Given the description of an element on the screen output the (x, y) to click on. 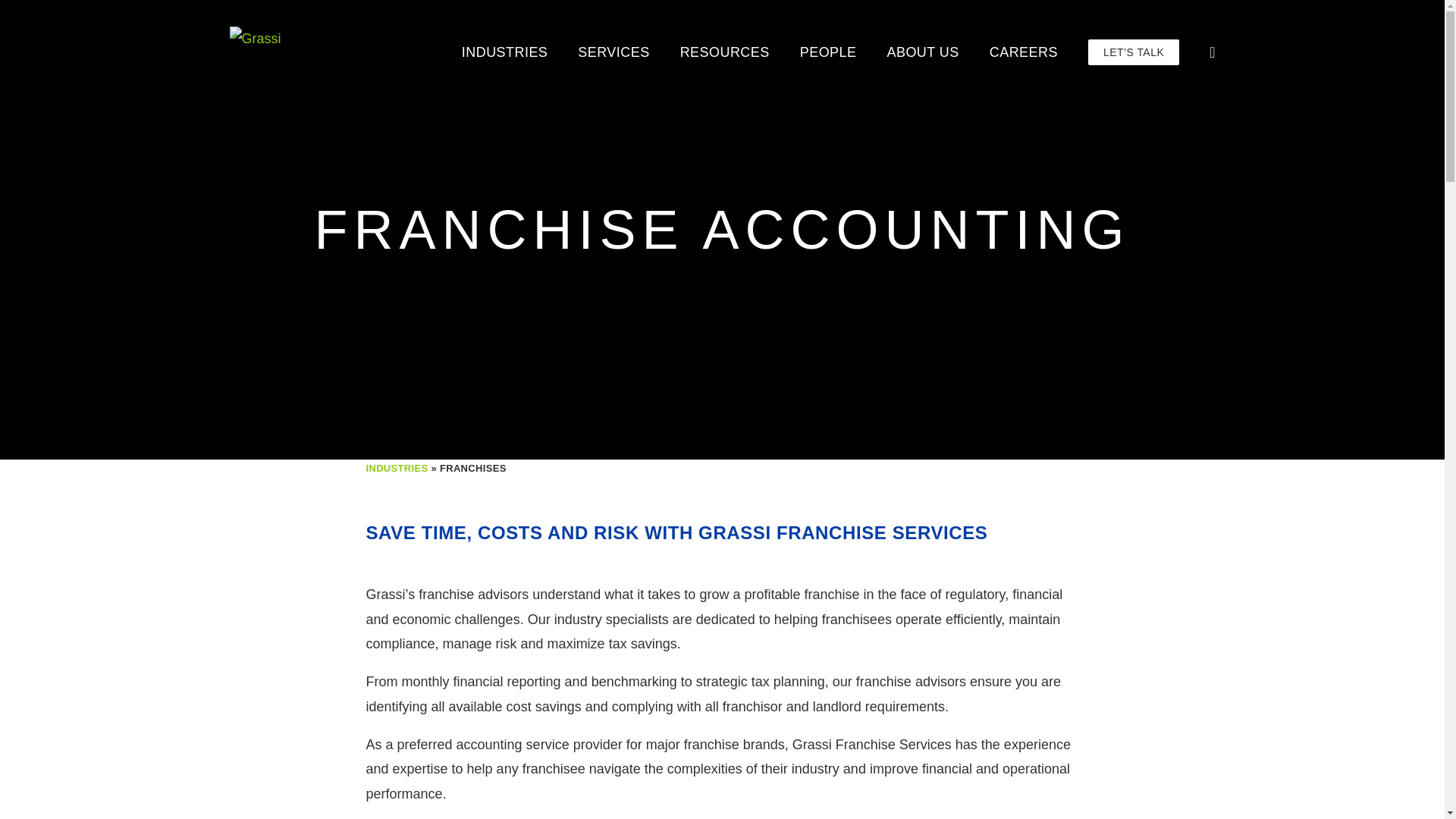
SERVICES (613, 52)
INDUSTRIES (504, 52)
